Given the description of an element on the screen output the (x, y) to click on. 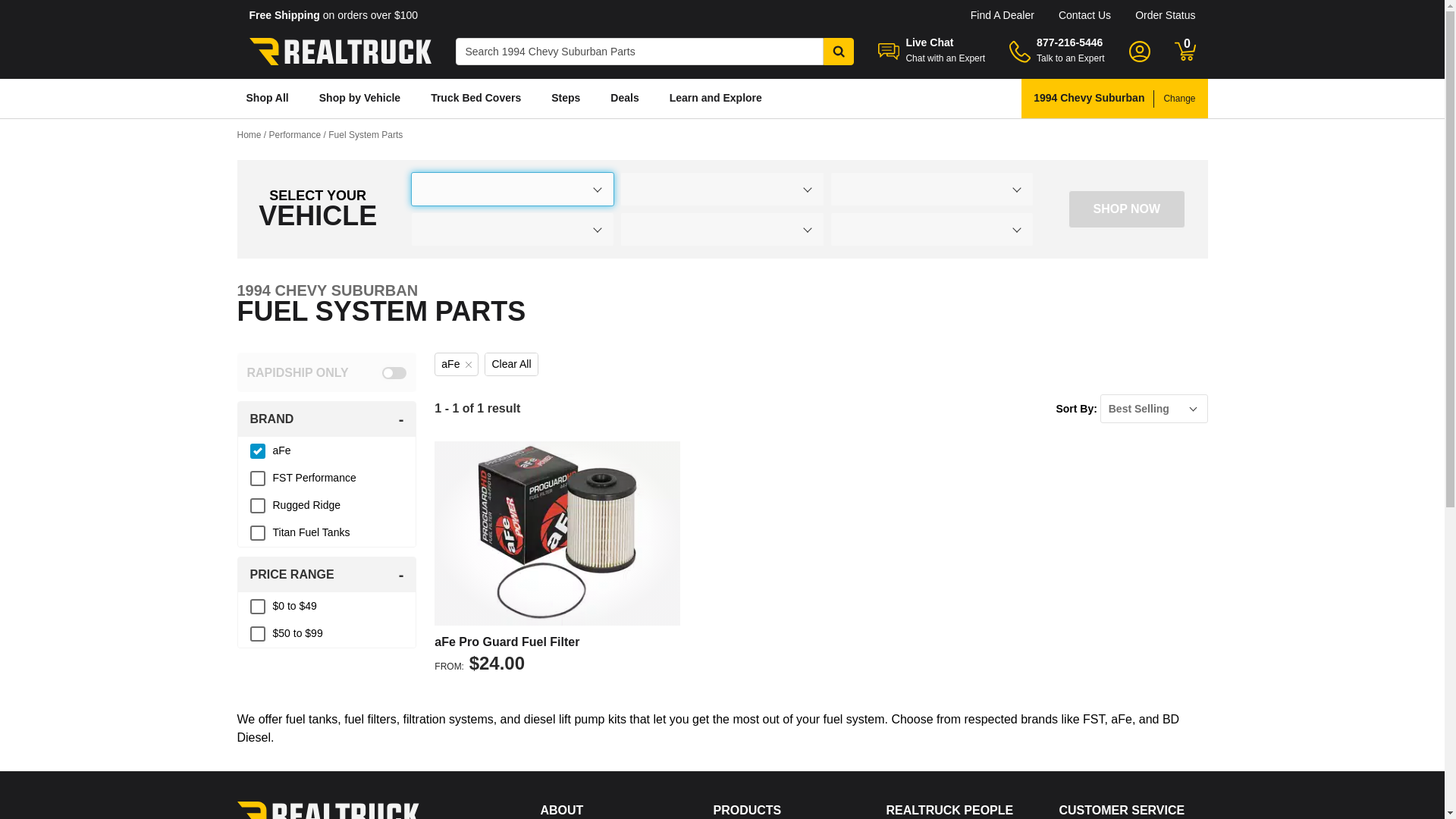
Chat with an Expert (945, 58)
Find A Dealer (1002, 15)
Live Chat (929, 41)
Order Status (1165, 15)
0 (1184, 51)
Contact Us (1084, 15)
